Given the description of an element on the screen output the (x, y) to click on. 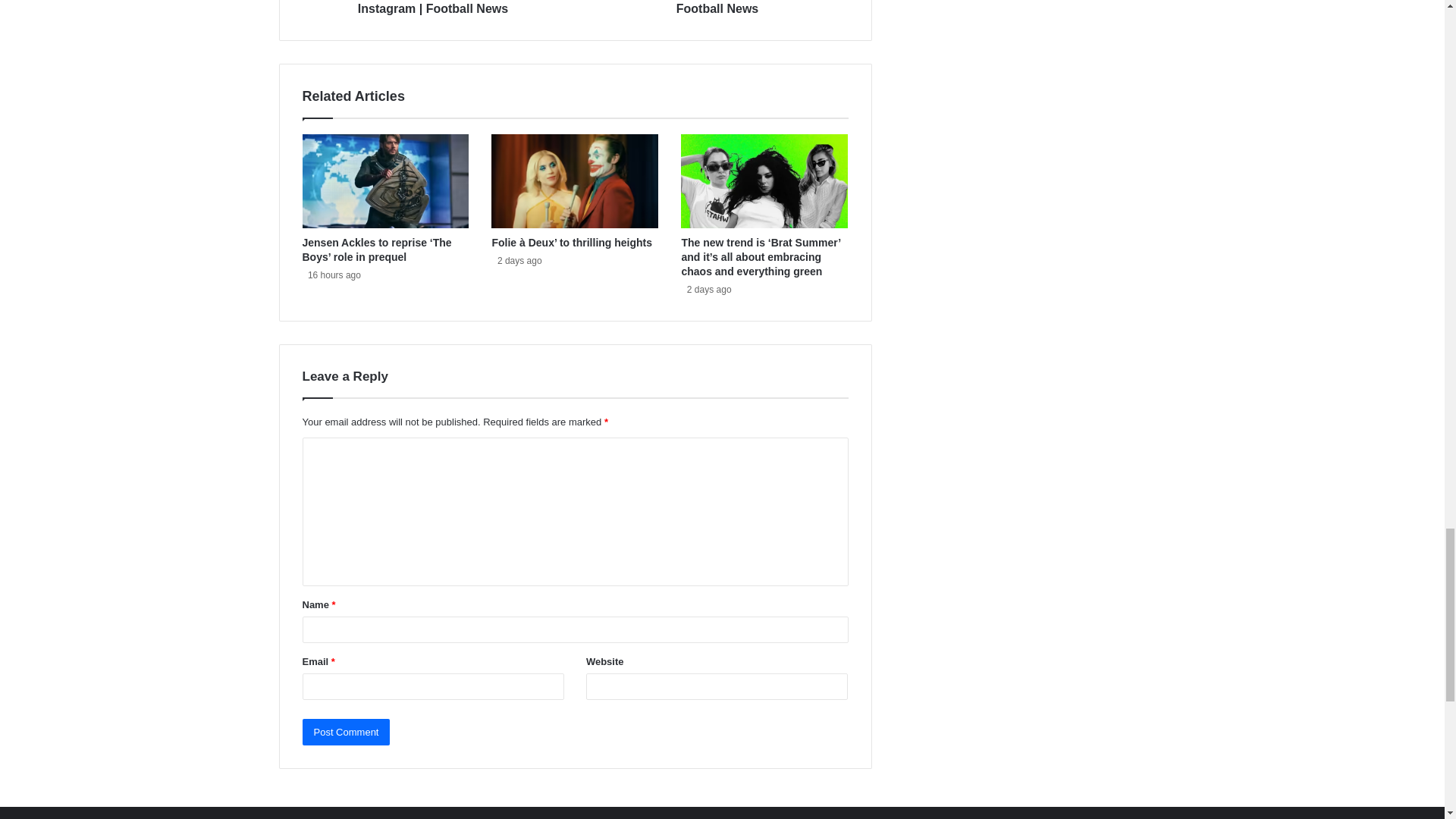
Post Comment (345, 732)
